Given the description of an element on the screen output the (x, y) to click on. 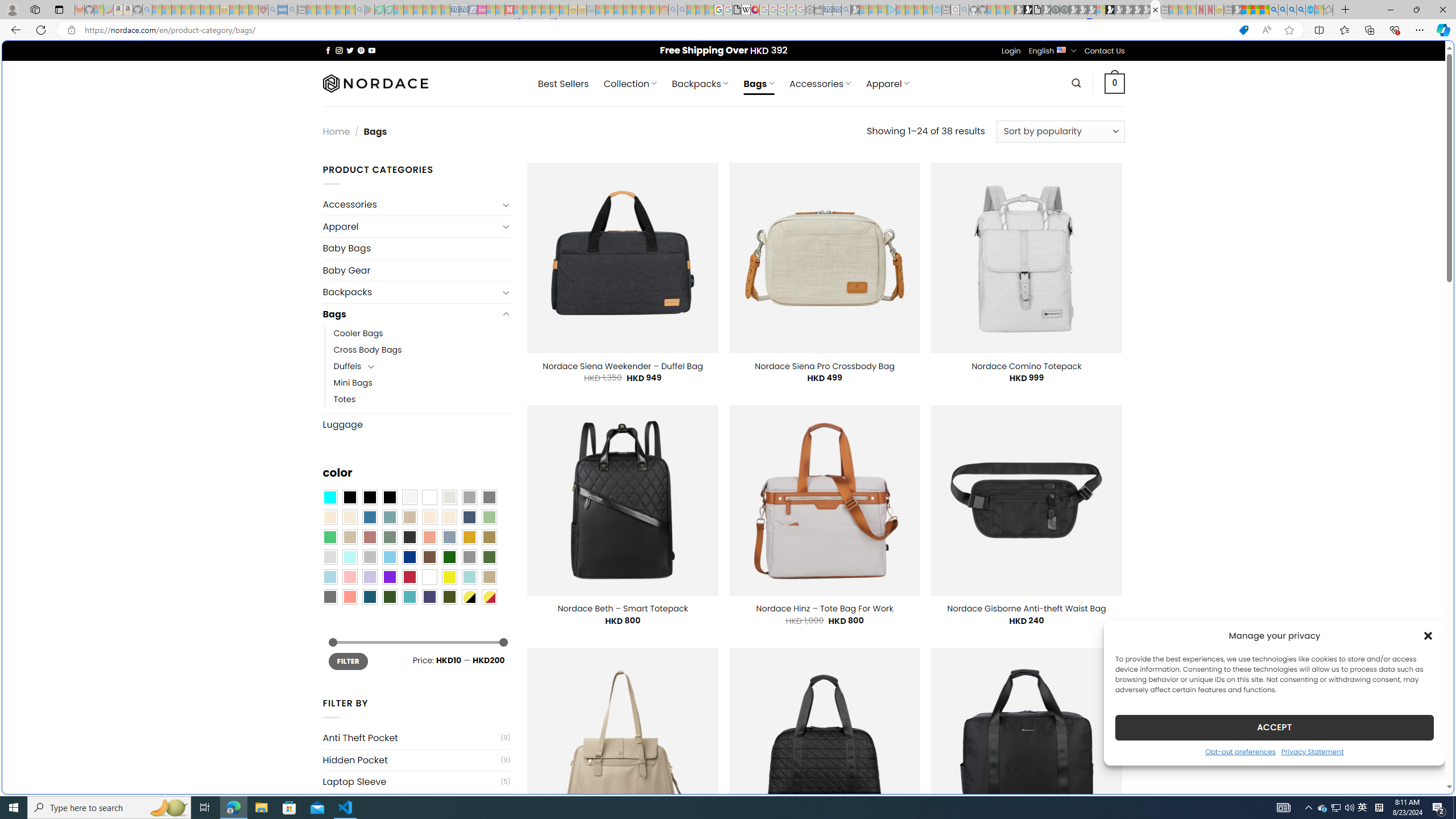
Mini Bags (352, 382)
Emerald Green (329, 536)
Gray (468, 557)
Totes (422, 398)
Beige (329, 517)
